Given the description of an element on the screen output the (x, y) to click on. 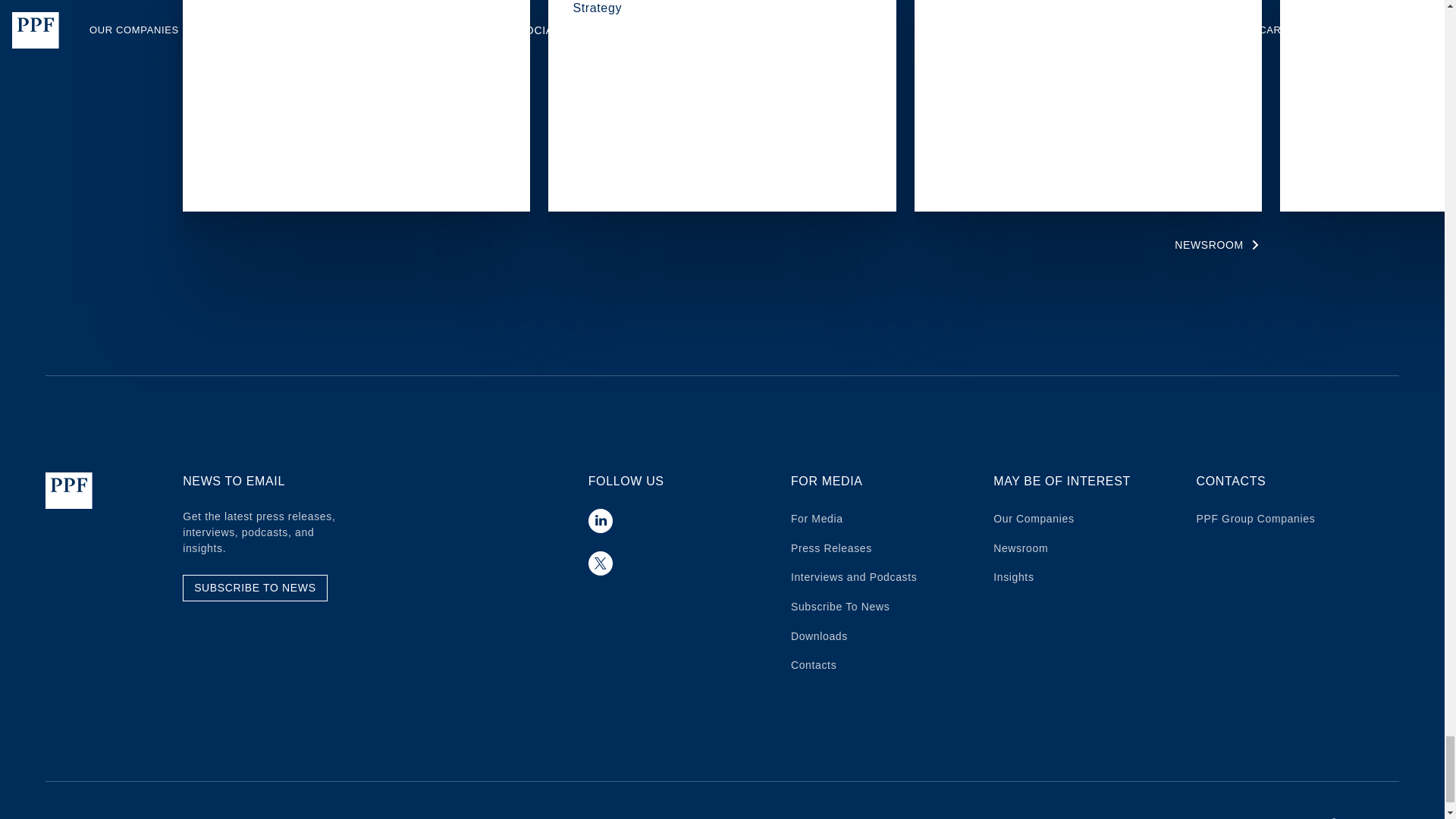
For Media (816, 518)
Our Companies (1033, 518)
NEWSROOM (1218, 244)
Newsroom (1020, 548)
Press Releases (831, 548)
Downloads (818, 635)
Interviews and Podcasts (853, 576)
Subscribe To News (839, 606)
SUBSCRIBE TO NEWS (255, 587)
